Given the description of an element on the screen output the (x, y) to click on. 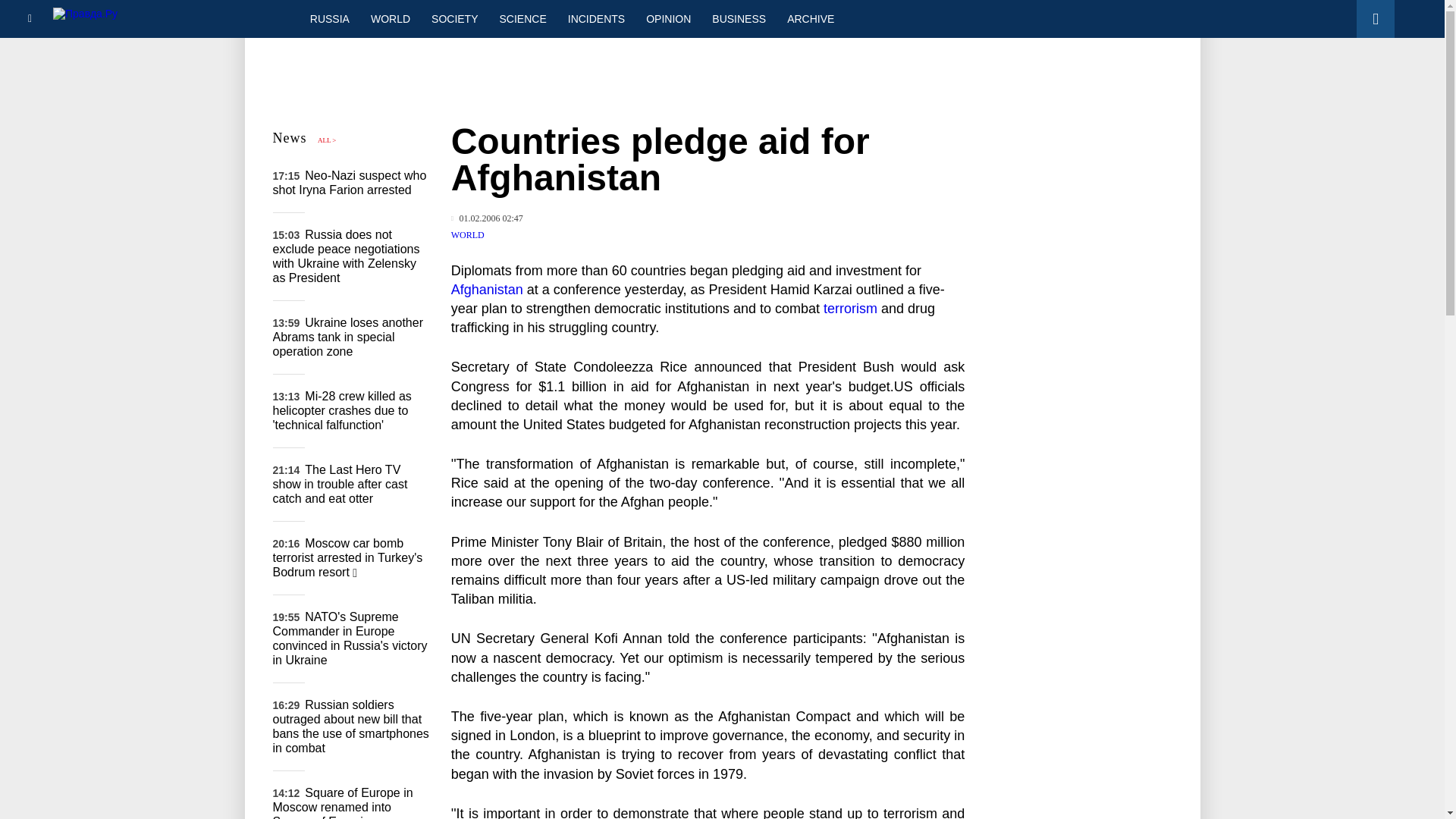
ARCHIVE (810, 18)
Neo-Nazi suspect who shot Iryna Farion arrested (349, 182)
Afghanistan (486, 289)
INCIDENTS (595, 18)
WORLD (389, 18)
BUSINESS (738, 18)
Square of Europe in Moscow renamed into Square of Eurasia (343, 802)
Moscow car bomb terrorist arrested in Turkey's Bodrum resort (348, 557)
Published (486, 218)
OPINION (667, 18)
News (290, 137)
WORLD (467, 235)
